Given the description of an element on the screen output the (x, y) to click on. 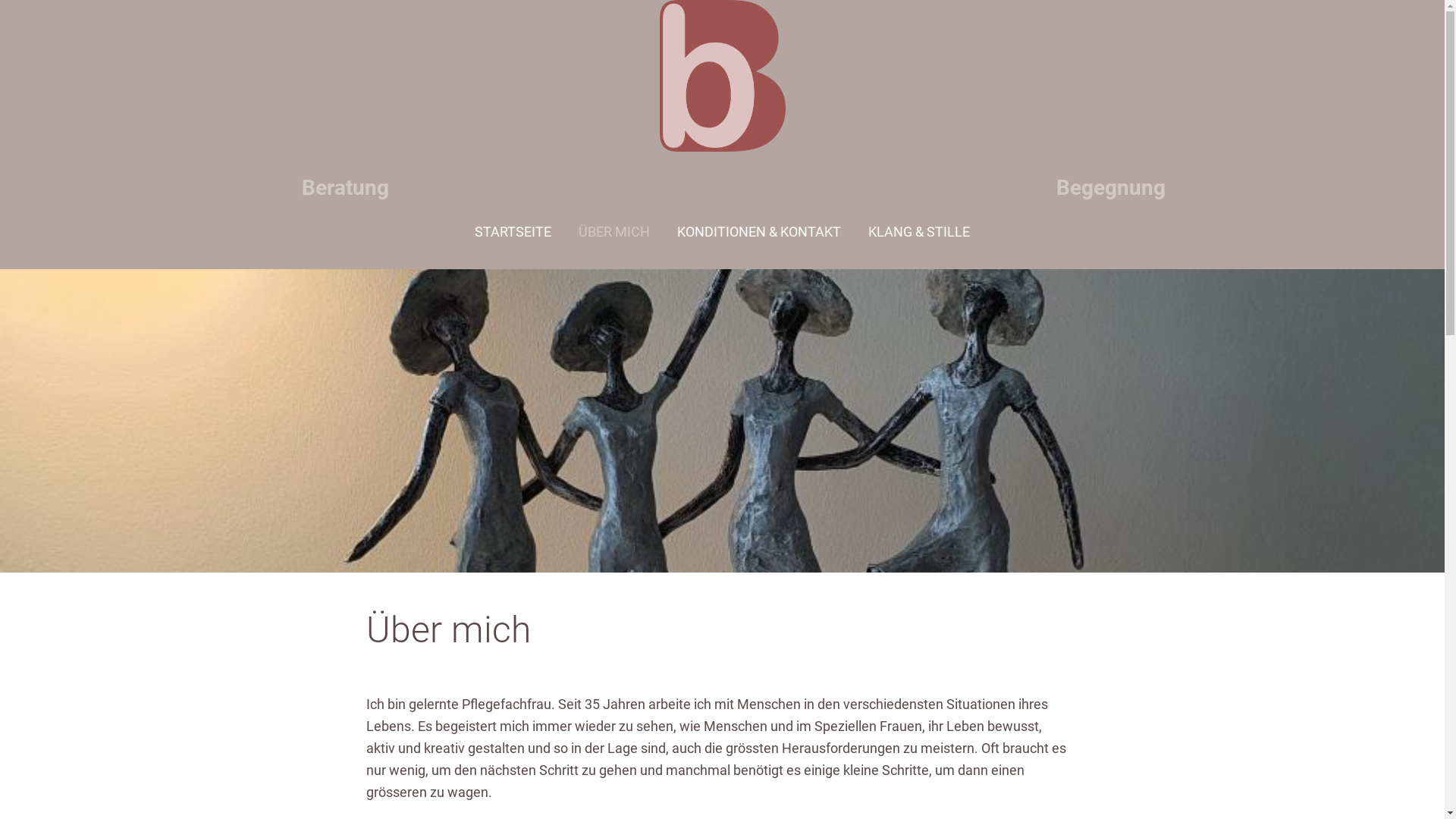
KONDITIONEN & KONTAKT Element type: text (758, 231)
KLANG & STILLE Element type: text (925, 231)
STARTSEITE Element type: text (505, 231)
